Given the description of an element on the screen output the (x, y) to click on. 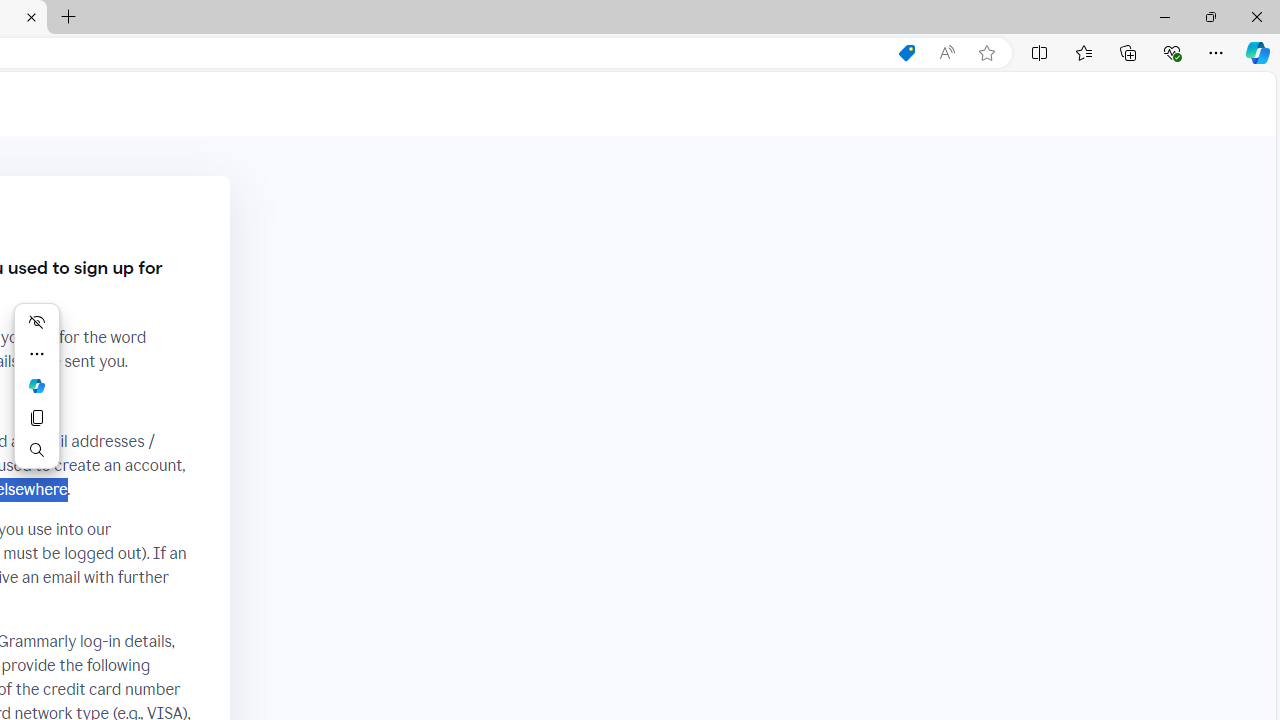
Hide menu (36, 321)
More actions (36, 353)
